Given the description of an element on the screen output the (x, y) to click on. 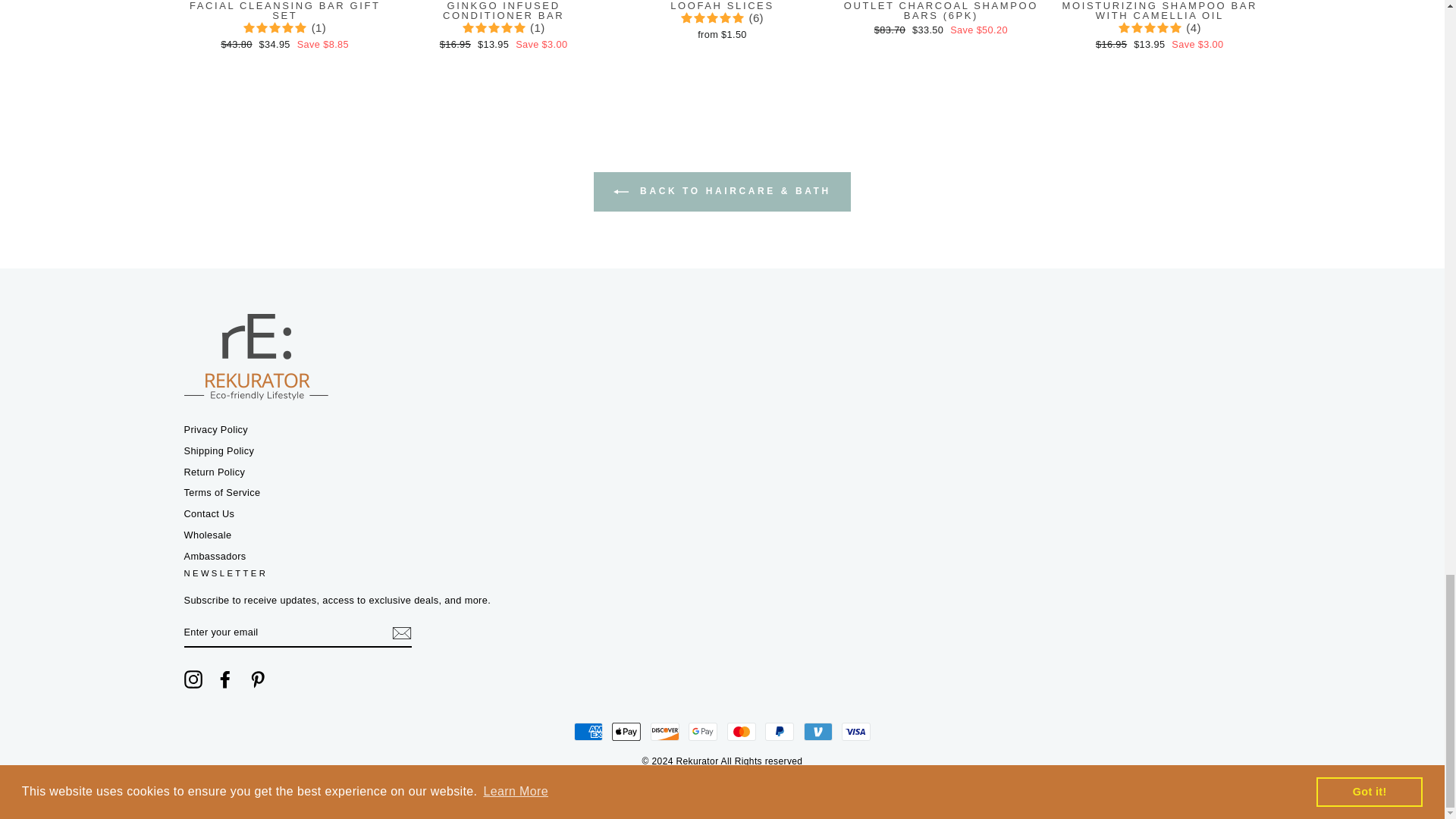
Rekurator on Facebook (224, 679)
Rekurator on Instagram (192, 679)
Rekurator on Pinterest (257, 679)
